Given the description of an element on the screen output the (x, y) to click on. 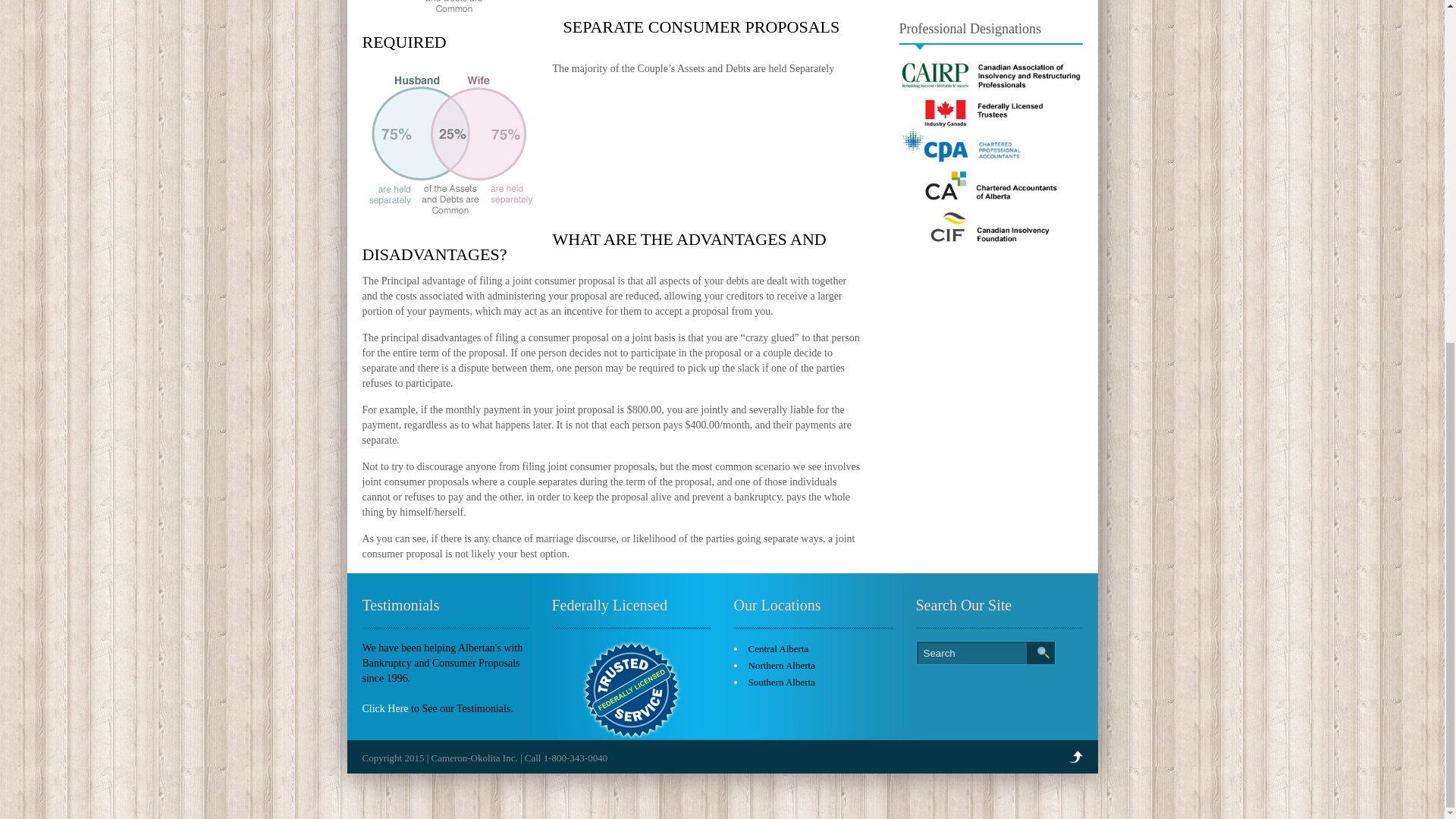
Search (985, 652)
